Given the description of an element on the screen output the (x, y) to click on. 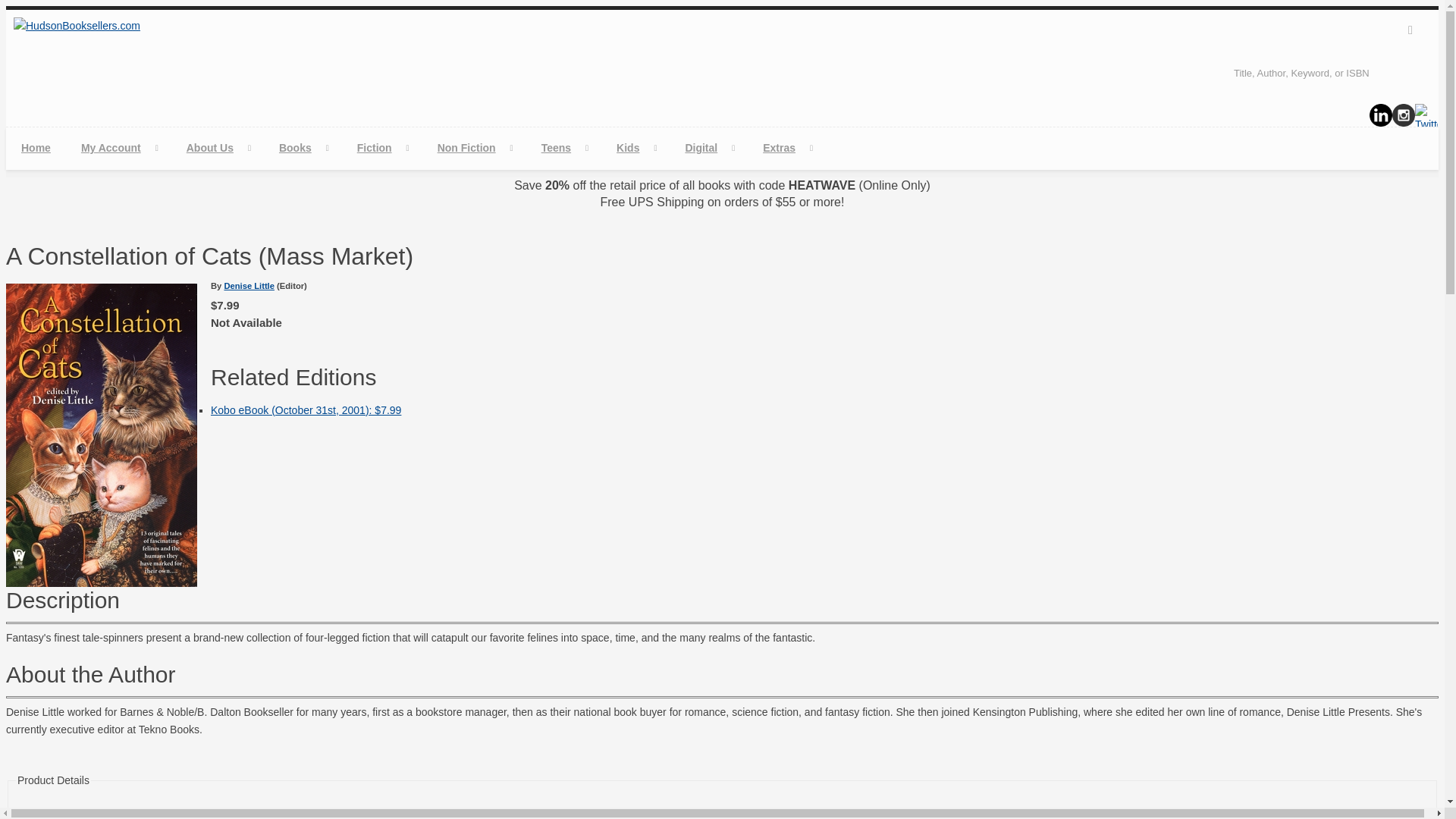
About Us (217, 147)
Books (302, 147)
Non Fiction (473, 147)
Home (35, 147)
Title, Author, Keyword, or ISBN (1330, 72)
My Account (118, 147)
Fiction (382, 147)
